Given the description of an element on the screen output the (x, y) to click on. 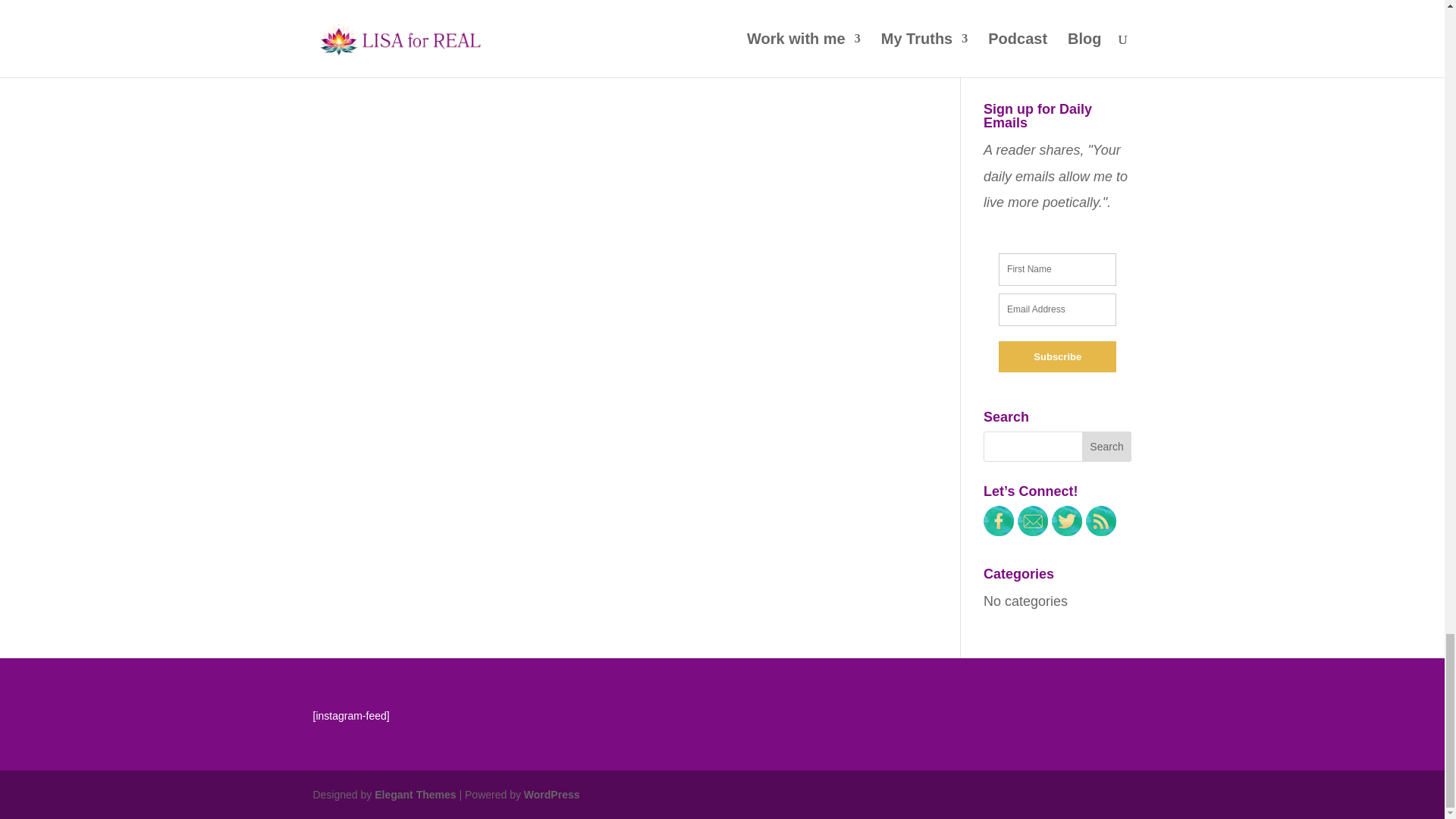
Premium WordPress Themes (414, 794)
Search (1106, 446)
